Given the description of an element on the screen output the (x, y) to click on. 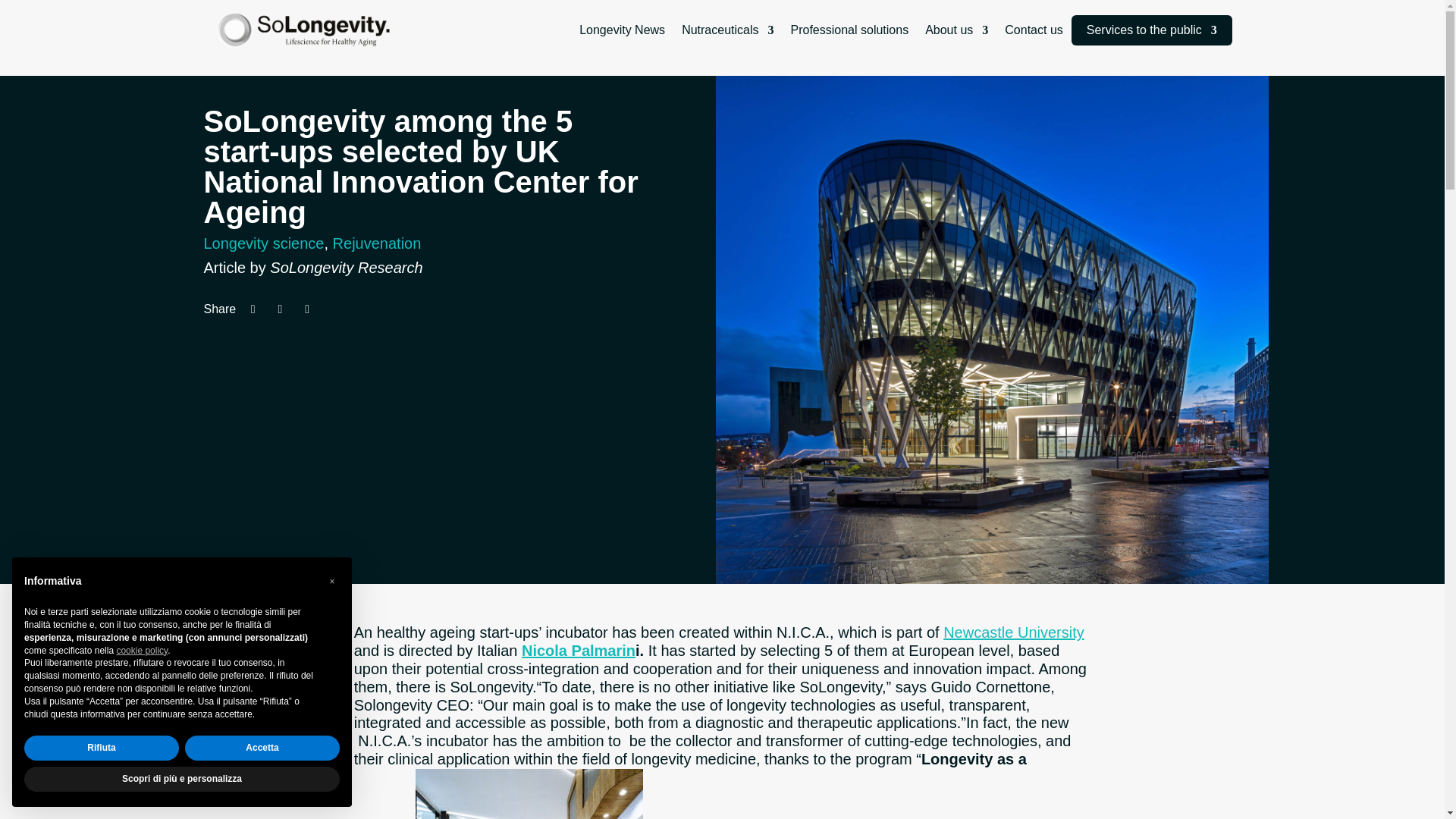
Rejuvenation (377, 243)
Nicola Palmarin (577, 650)
Contact us (1033, 30)
Longevity News (622, 30)
About us (956, 30)
Longevity science (263, 243)
Solongevity-logo (304, 29)
Nutraceuticals (727, 30)
Newcastle University (1013, 632)
Professional solutions (849, 30)
Services to the public (1151, 30)
